Given the description of an element on the screen output the (x, y) to click on. 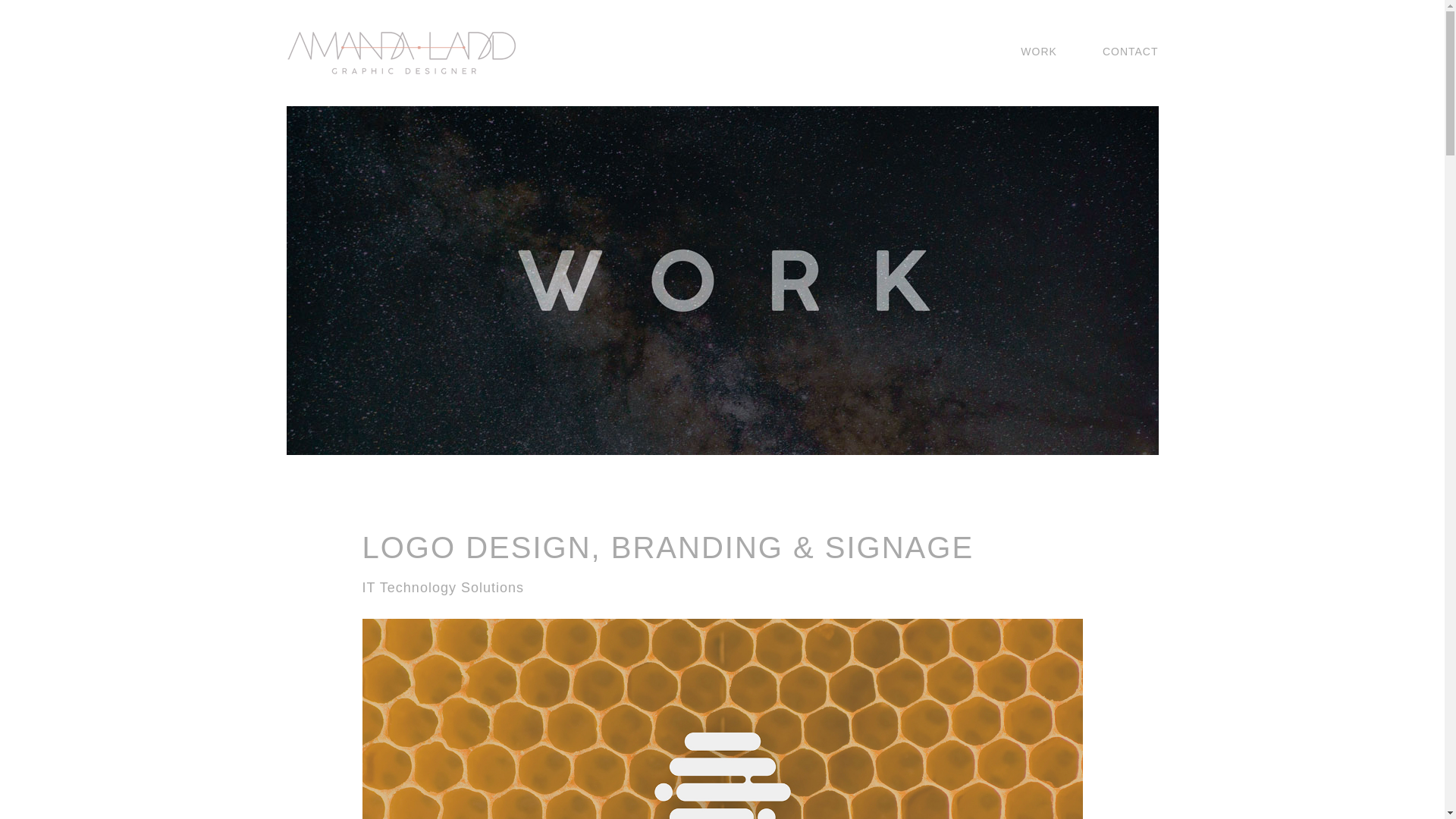
CONTACT Element type: text (1107, 51)
WORK Element type: text (1016, 51)
